Given the description of an element on the screen output the (x, y) to click on. 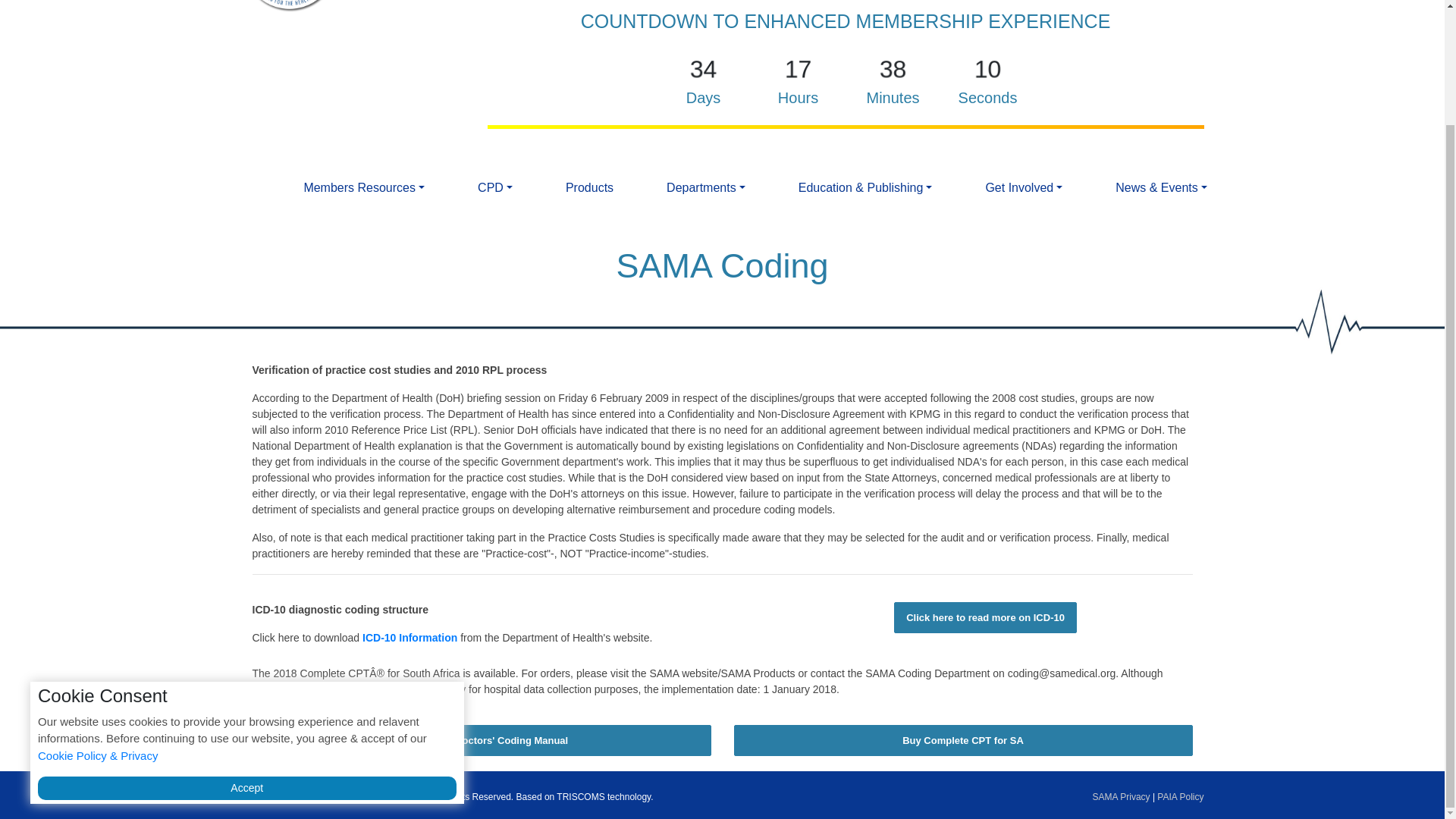
Members Resources (363, 187)
CPD (494, 187)
